Given the description of an element on the screen output the (x, y) to click on. 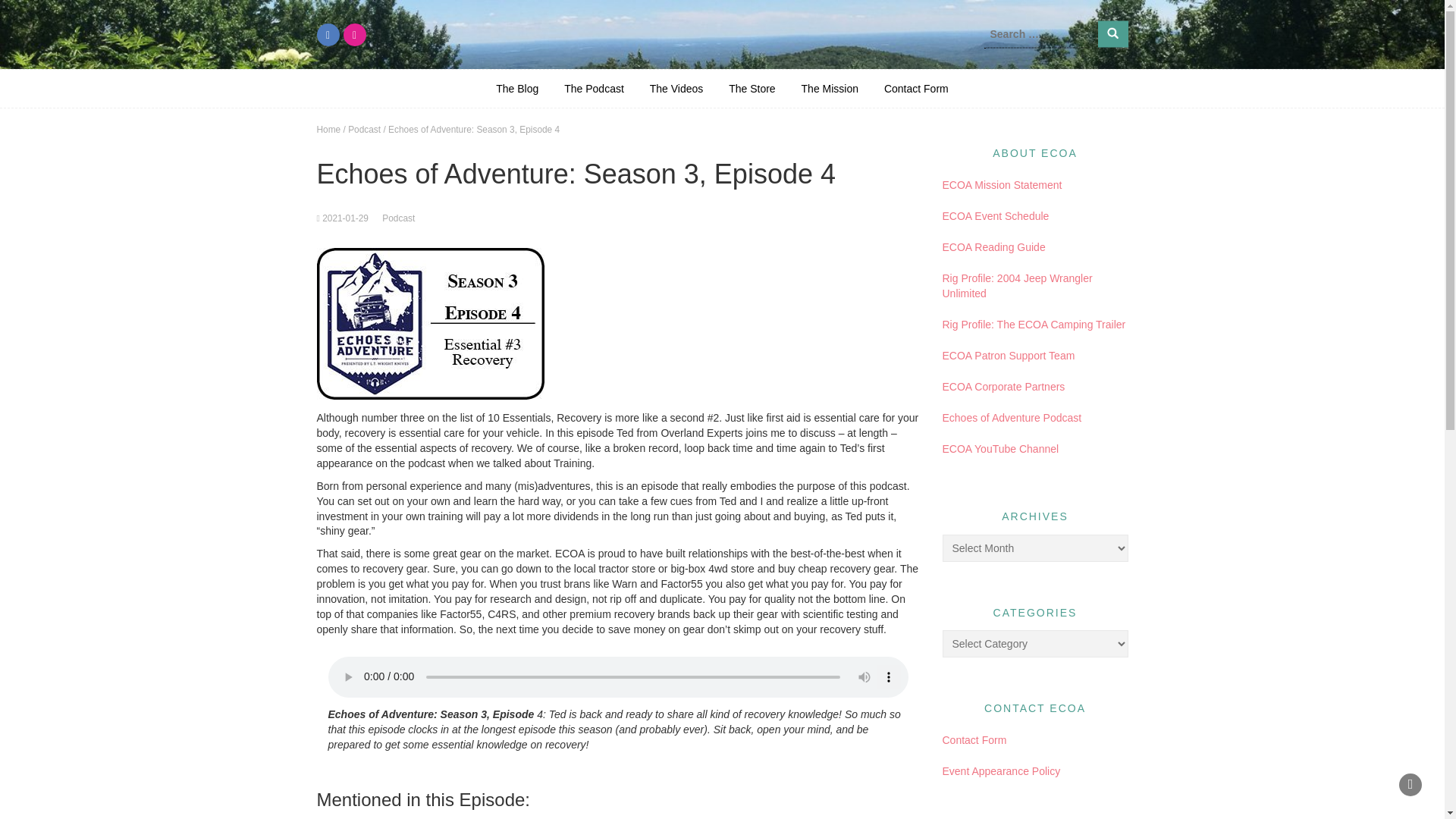
The Store (751, 88)
Podcast (397, 217)
The Podcast (593, 88)
The Blog (517, 88)
Contact Form (974, 739)
ECOA Mission Statement (1001, 184)
The Blog (517, 88)
Contact Form (915, 88)
Search (1112, 33)
Search (1112, 33)
ECOA YouTube Channel (1000, 449)
The Mission (829, 88)
ECOA Patron Support Team (1008, 355)
Podcast (363, 129)
The Store (751, 88)
